Given the description of an element on the screen output the (x, y) to click on. 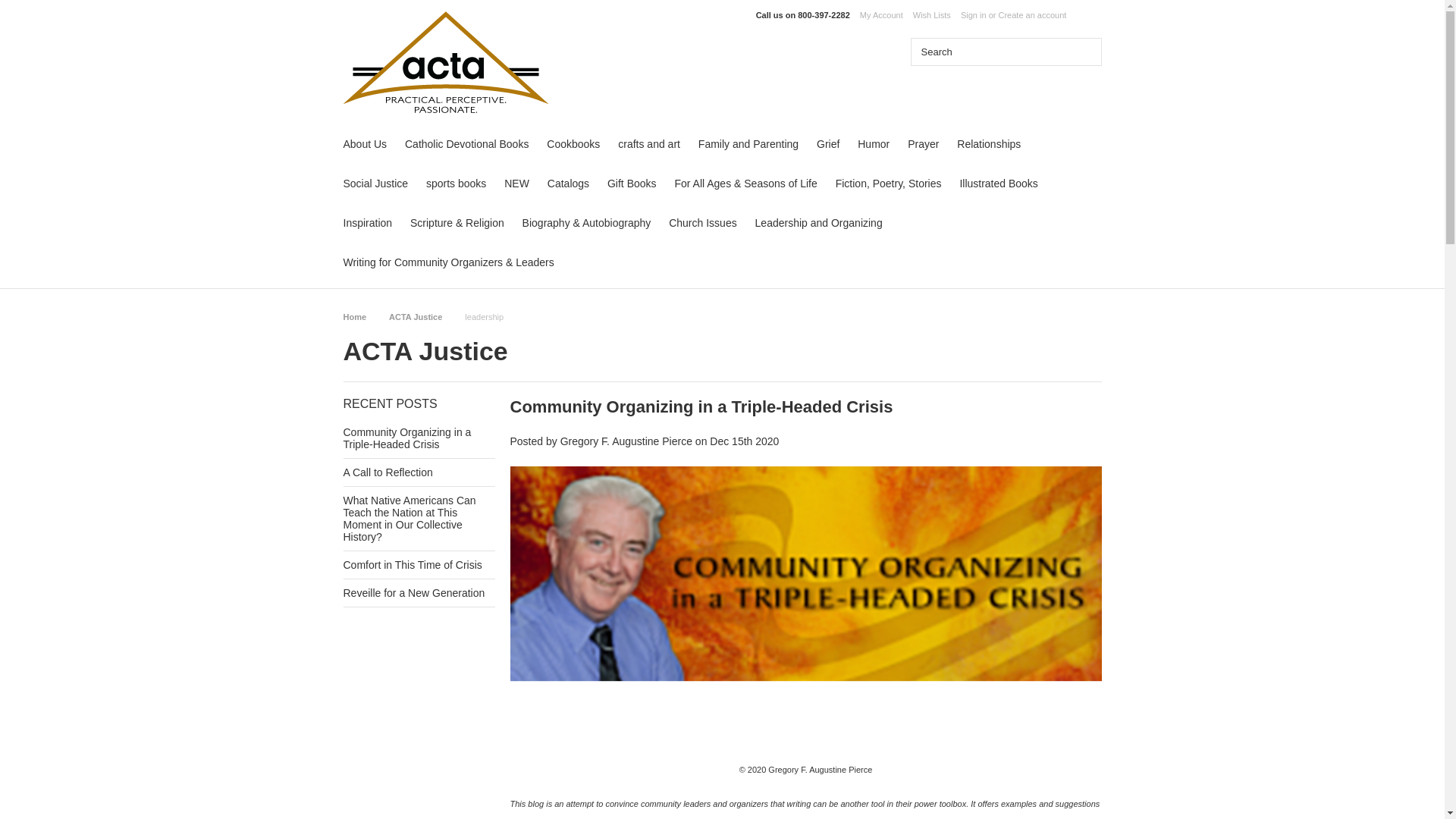
Search (986, 51)
Search (1081, 51)
